Given the description of an element on the screen output the (x, y) to click on. 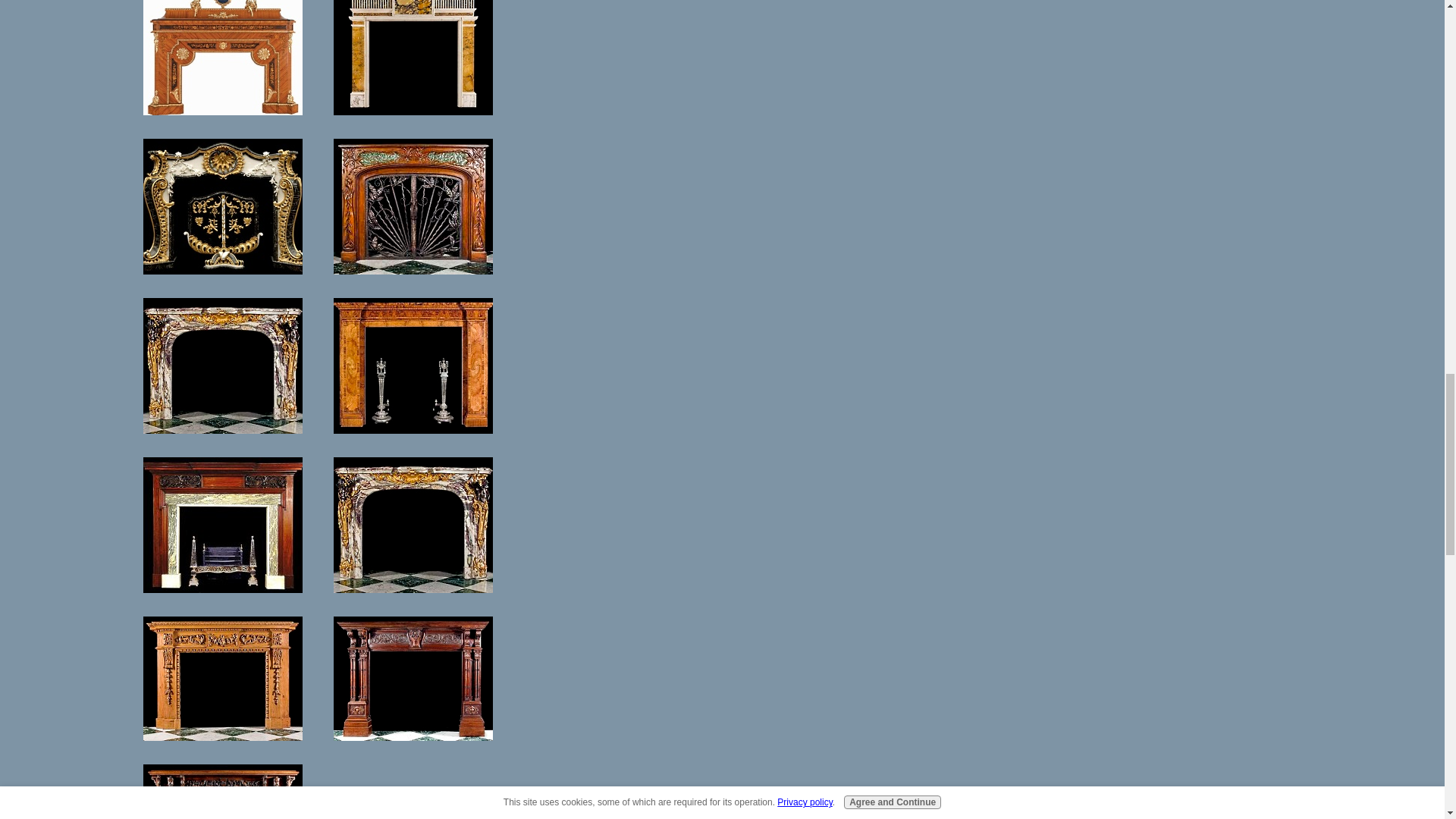
antique fireplace (222, 57)
antique fireplace (222, 206)
antique fireplace (222, 366)
antique fireplace (222, 791)
antique fireplace (413, 524)
antique fireplace (413, 366)
antique fireplace (222, 678)
antique fireplace (413, 206)
antique fireplace (413, 791)
antique fireplace (222, 524)
